Given the description of an element on the screen output the (x, y) to click on. 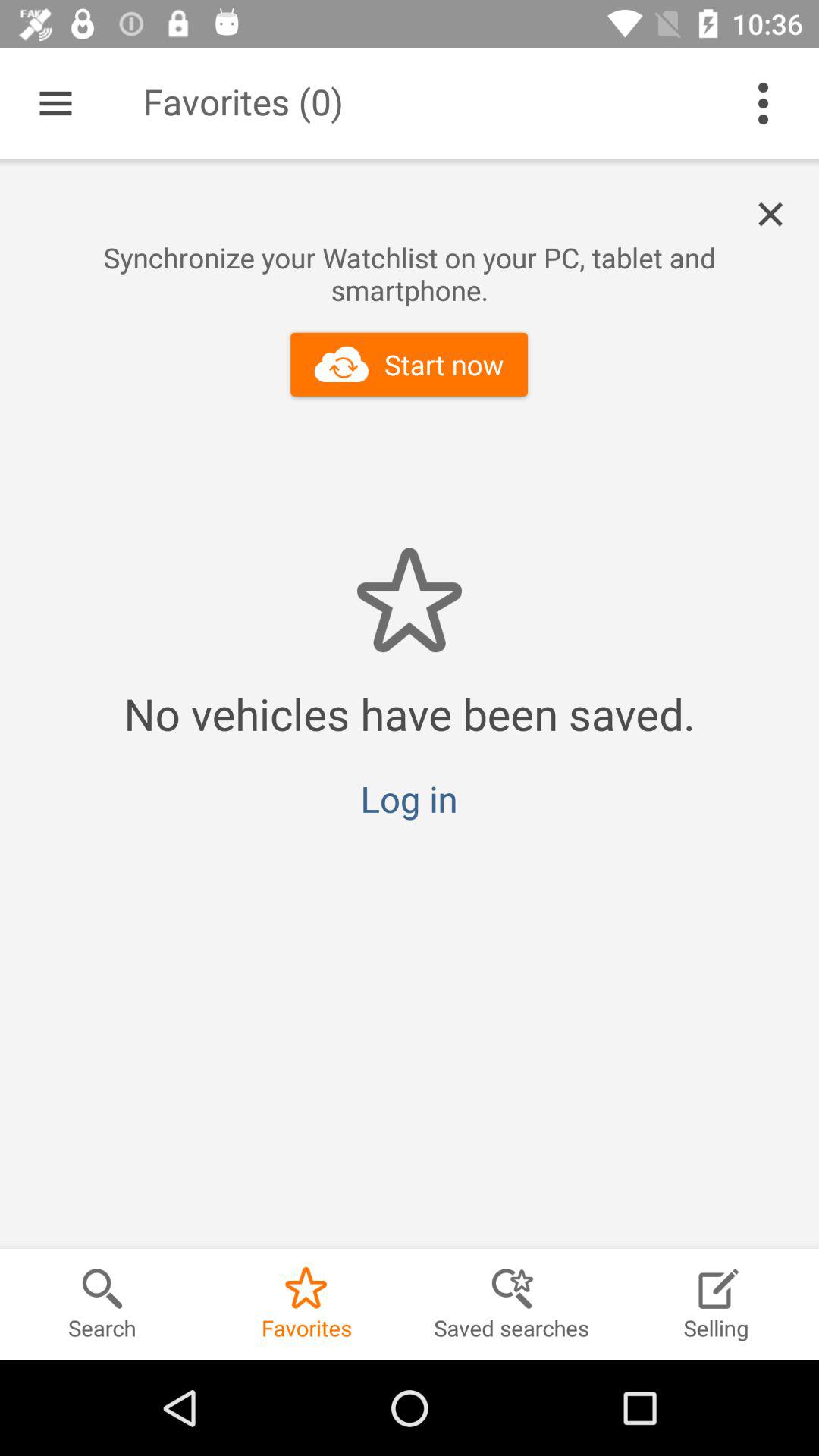
click the log in (408, 798)
